Given the description of an element on the screen output the (x, y) to click on. 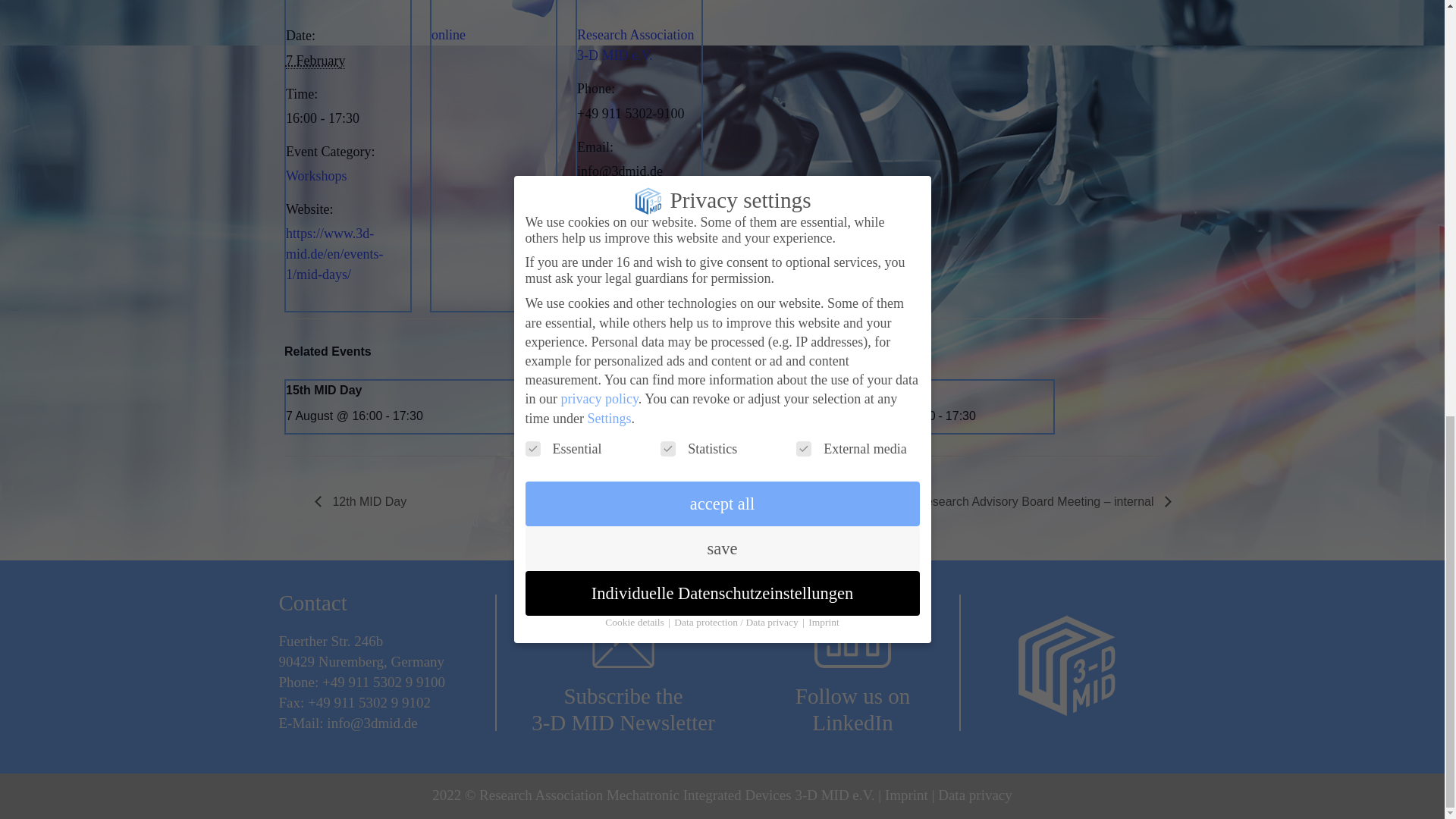
Research Association 3-D MID e.V. (635, 45)
2024-02-07 (347, 118)
2024-02-07 (315, 60)
